Given the description of an element on the screen output the (x, y) to click on. 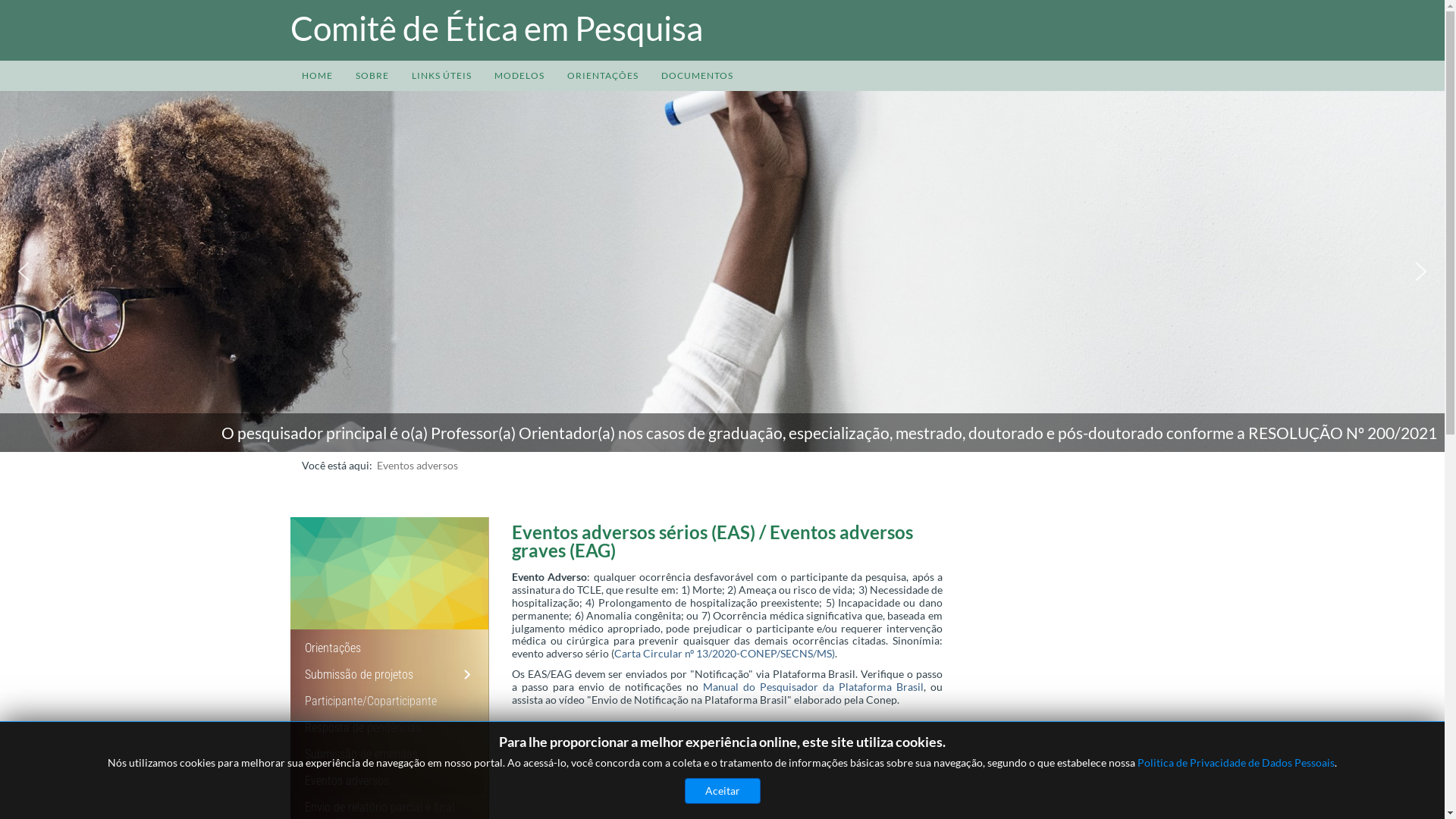
Politica de Privacidade de Dados Pessoais Element type: text (1235, 762)
MODELOS Element type: text (518, 75)
SOBRE Element type: text (372, 75)
HOME Element type: text (316, 75)
Participante/Coparticipante Element type: text (370, 700)
Manual do Pesquisador da Plataforma Brasil Element type: text (812, 686)
Eventos adversos Element type: text (346, 780)
DOCUMENTOS Element type: text (696, 75)
